Given the description of an element on the screen output the (x, y) to click on. 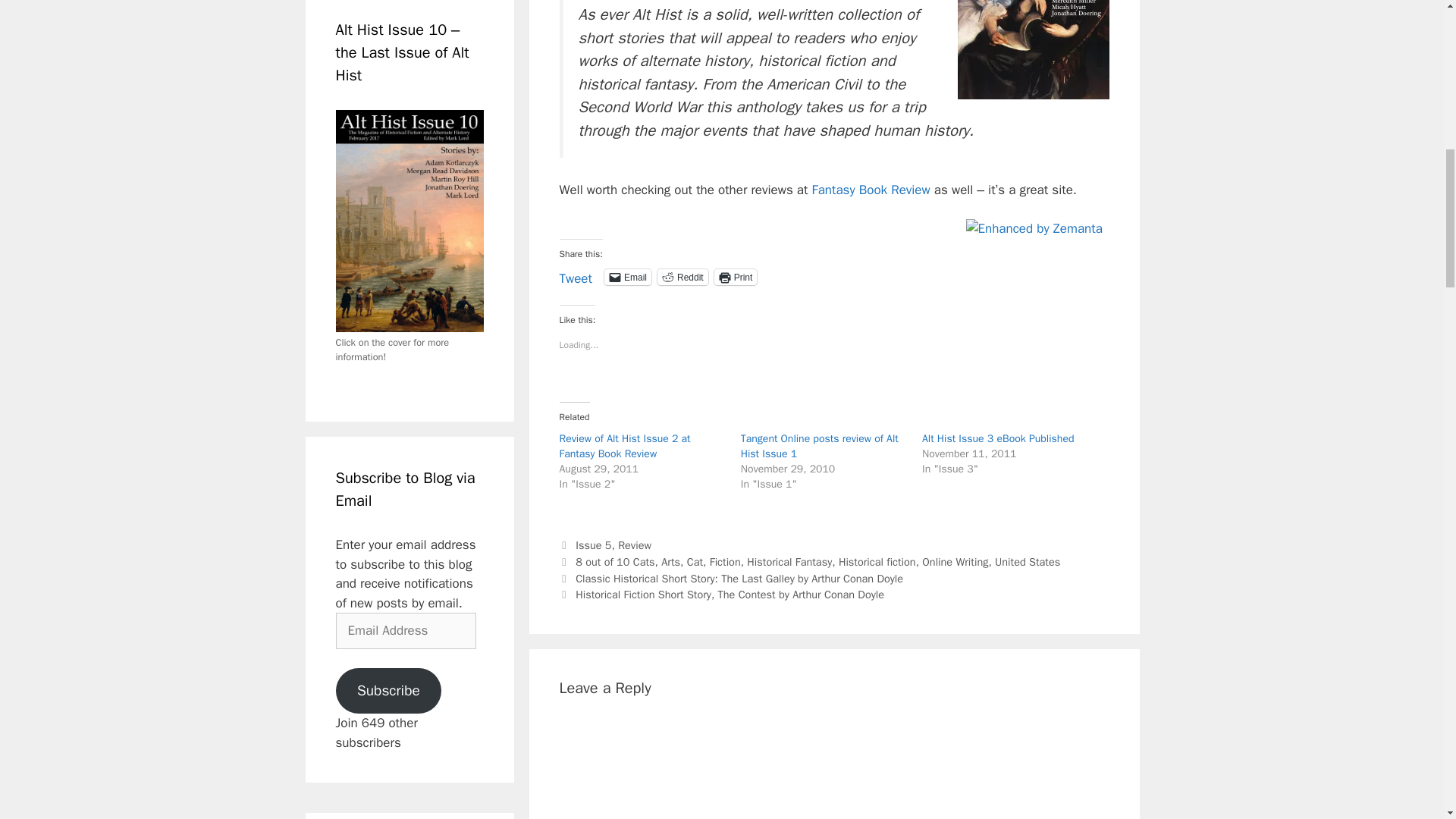
Tangent Online posts review of Alt Hist Issue 1 (819, 446)
Click to print (735, 277)
Click to email a link to a friend (627, 277)
Click to share on Reddit (682, 277)
Review of Alt Hist Issue 2 at Fantasy Book Review (624, 446)
